Given the description of an element on the screen output the (x, y) to click on. 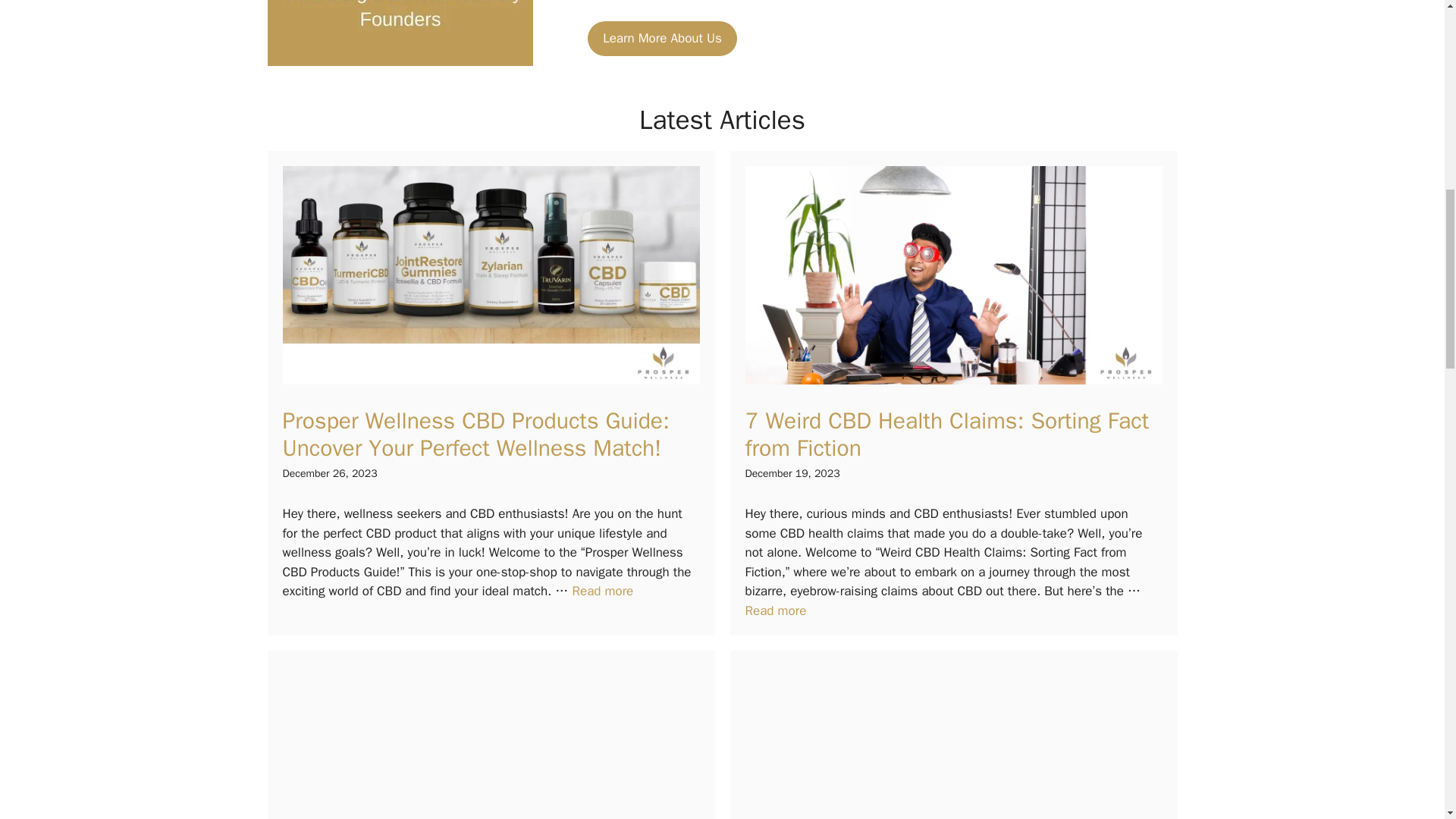
Read more (775, 610)
Learn More About Us (662, 38)
Read more (602, 590)
7 Weird CBD Health Claims: Sorting Fact from Fiction (775, 610)
7 Weird CBD Health Claims: Sorting Fact from Fiction (946, 434)
